Given the description of an element on the screen output the (x, y) to click on. 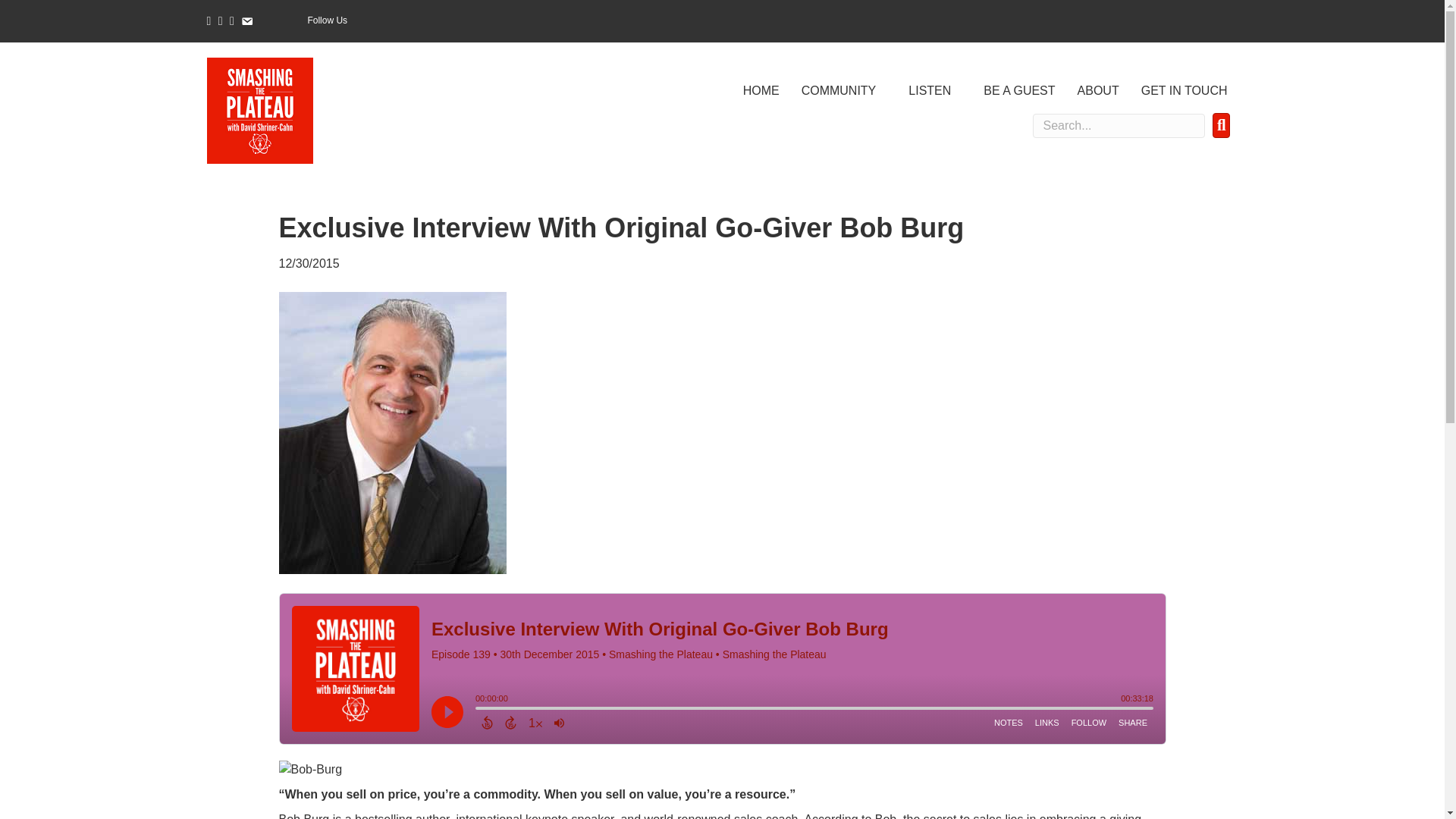
BE A GUEST (1018, 90)
GET IN TOUCH (1185, 90)
ABOUT (1098, 90)
HOME (761, 90)
logo2x (259, 110)
LISTEN (935, 90)
COMMUNITY (844, 90)
